Given the description of an element on the screen output the (x, y) to click on. 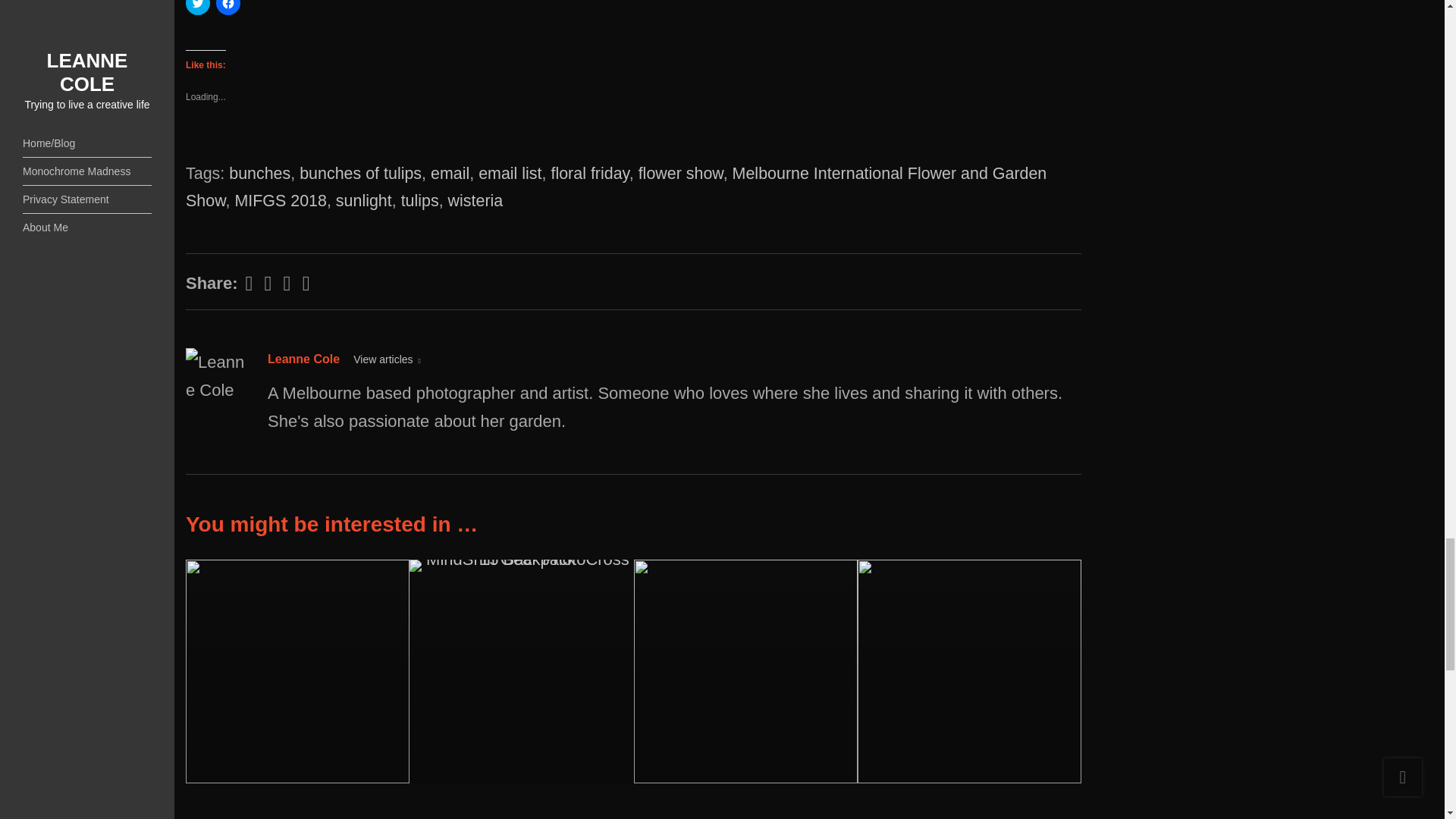
email list (510, 173)
View articles (386, 358)
flower show (681, 173)
wisteria (475, 200)
bunches of tulips (360, 173)
Click to share on Twitter (197, 7)
MIFGS 2018 (280, 200)
Click to share on Facebook (227, 7)
sunlight (363, 200)
email (449, 173)
